Given the description of an element on the screen output the (x, y) to click on. 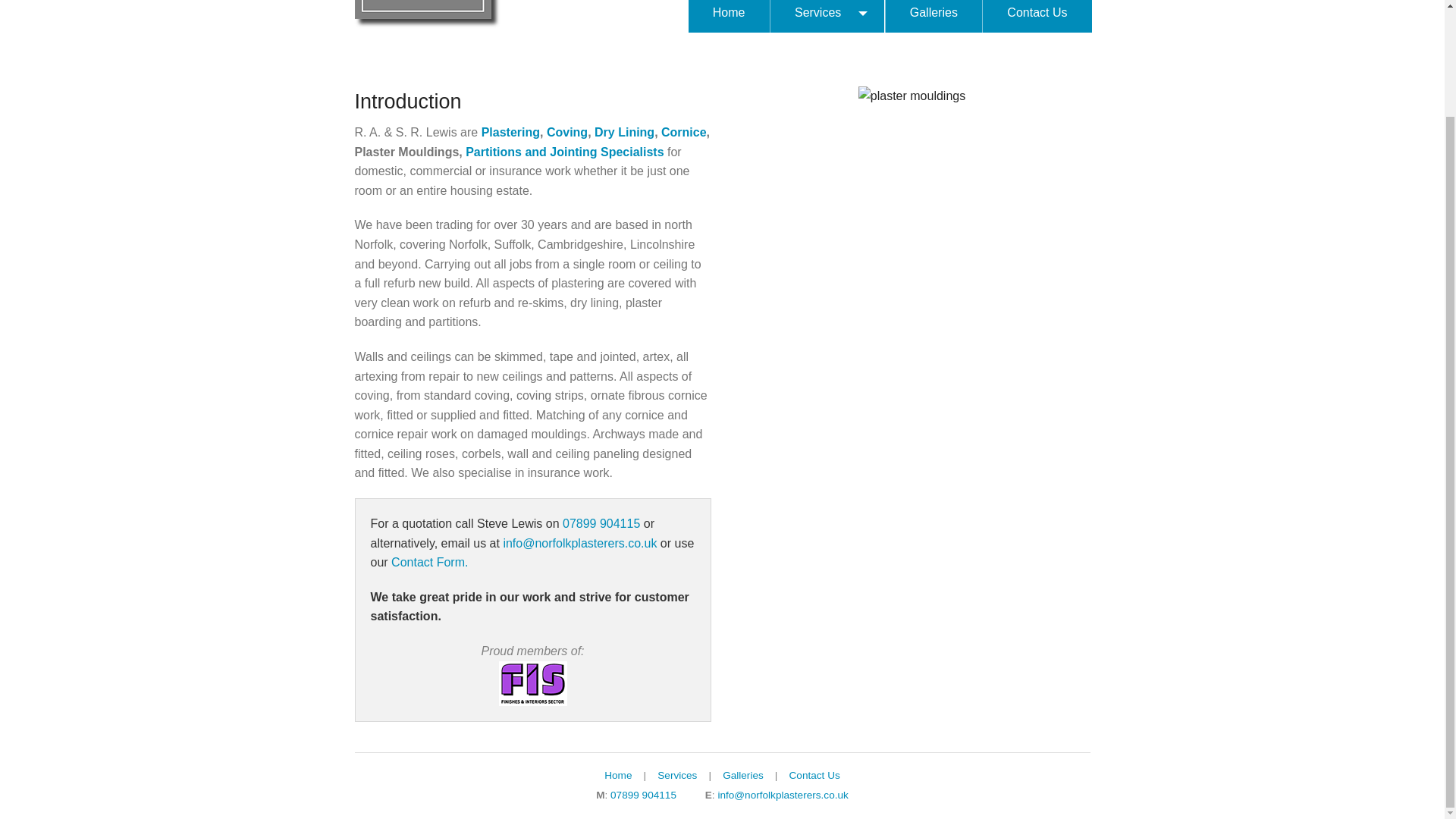
Contact Us (1035, 16)
07899 904115 (601, 522)
Coving (567, 132)
Partitions and Jointing Specialists (564, 151)
Galleries (933, 16)
Plastering (510, 132)
Dry lining (623, 132)
Services (826, 16)
Cornice (683, 132)
Coving (567, 132)
Ornate cornice (683, 132)
Partitions and Jointing Specialists (564, 151)
Dry Lining (623, 132)
Home (729, 16)
Plastering (510, 132)
